Given the description of an element on the screen output the (x, y) to click on. 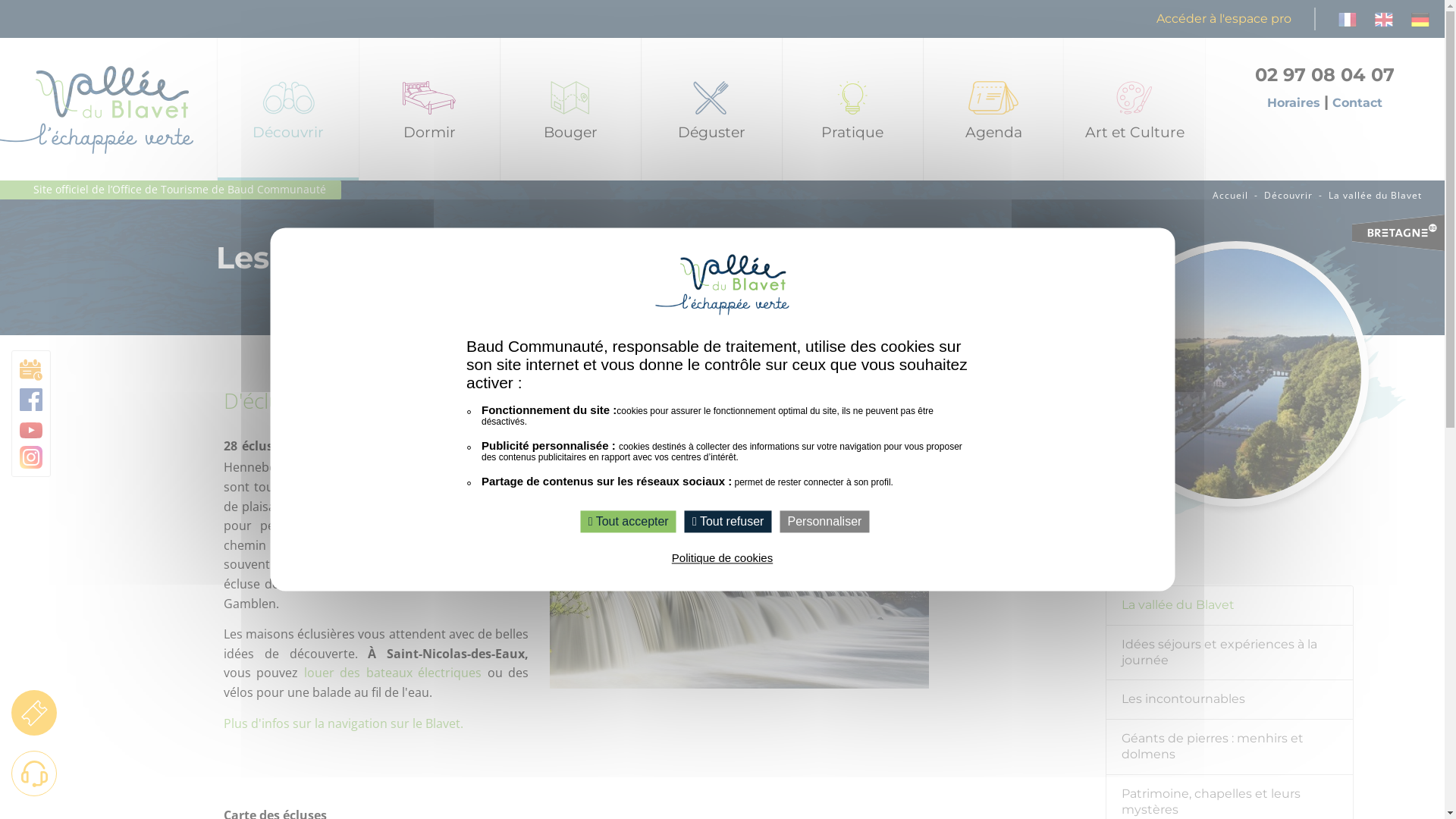
Agenda des animations Element type: text (992, 232)
Politique de cookies Element type: text (721, 558)
Personnaliser Element type: text (824, 521)
L'Art dans les Chapelles Element type: text (1133, 197)
Office de Tourisme Element type: text (851, 197)
Brochures Element type: text (851, 267)
Golf Element type: text (569, 337)
Aires de jeux pour petits et grands Element type: text (569, 546)
Sorties en famille Element type: text (569, 232)
Produits locaux Element type: text (710, 232)
Francais Element type: hover (1347, 17)
Pratique Element type: text (851, 108)
Agenda Element type: text (992, 108)
Contact Element type: text (1357, 102)
Les incontournables Element type: text (1229, 699)
Plus d'infos sur la navigation sur le Blavet. Element type: text (343, 723)
Campings et aires pour camping cars Element type: text (428, 371)
English Element type: hover (1383, 17)
Accueil Element type: text (1230, 194)
Tout refuser Element type: text (727, 521)
Tout accepter Element type: text (628, 521)
Art et Culture Element type: text (1133, 108)
Horaires Element type: text (1299, 102)
Dormir Element type: text (428, 108)
Contactez-nous Element type: text (851, 232)
German Element type: hover (1420, 17)
Les incontournables Element type: text (287, 267)
Bouger Element type: text (569, 108)
Le Train touristique Element type: text (569, 406)
Restaurants Element type: text (710, 197)
